Given the description of an element on the screen output the (x, y) to click on. 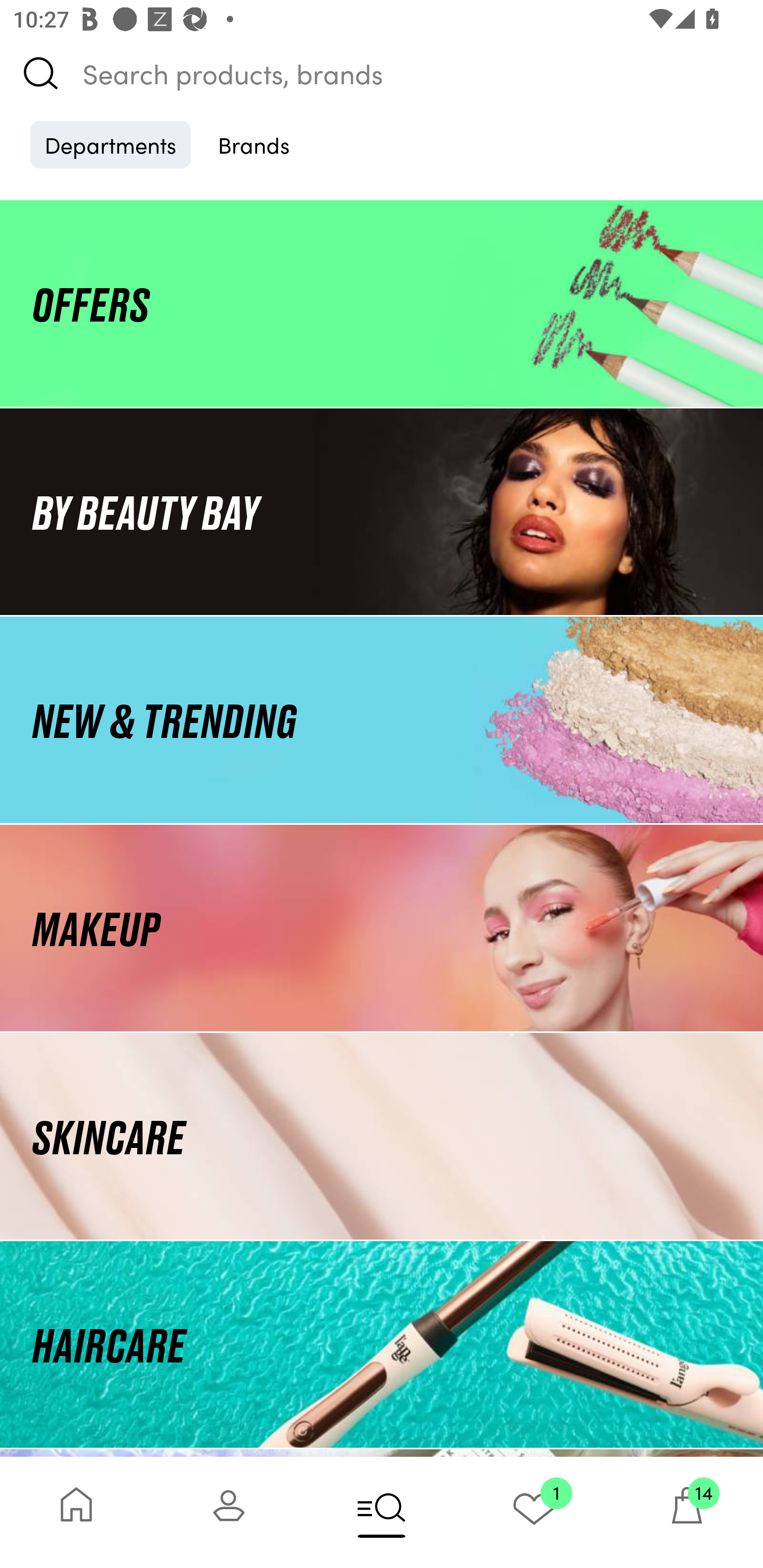
Search products, brands (381, 72)
Departments (110, 143)
Brands (253, 143)
OFFERS (381, 303)
BY BEAUTY BAY (381, 510)
NEW & TRENDING (381, 719)
MAKEUP (381, 927)
SKINCARE (381, 1136)
HAIRCARE (381, 1344)
1 (533, 1512)
14 (686, 1512)
